Given the description of an element on the screen output the (x, y) to click on. 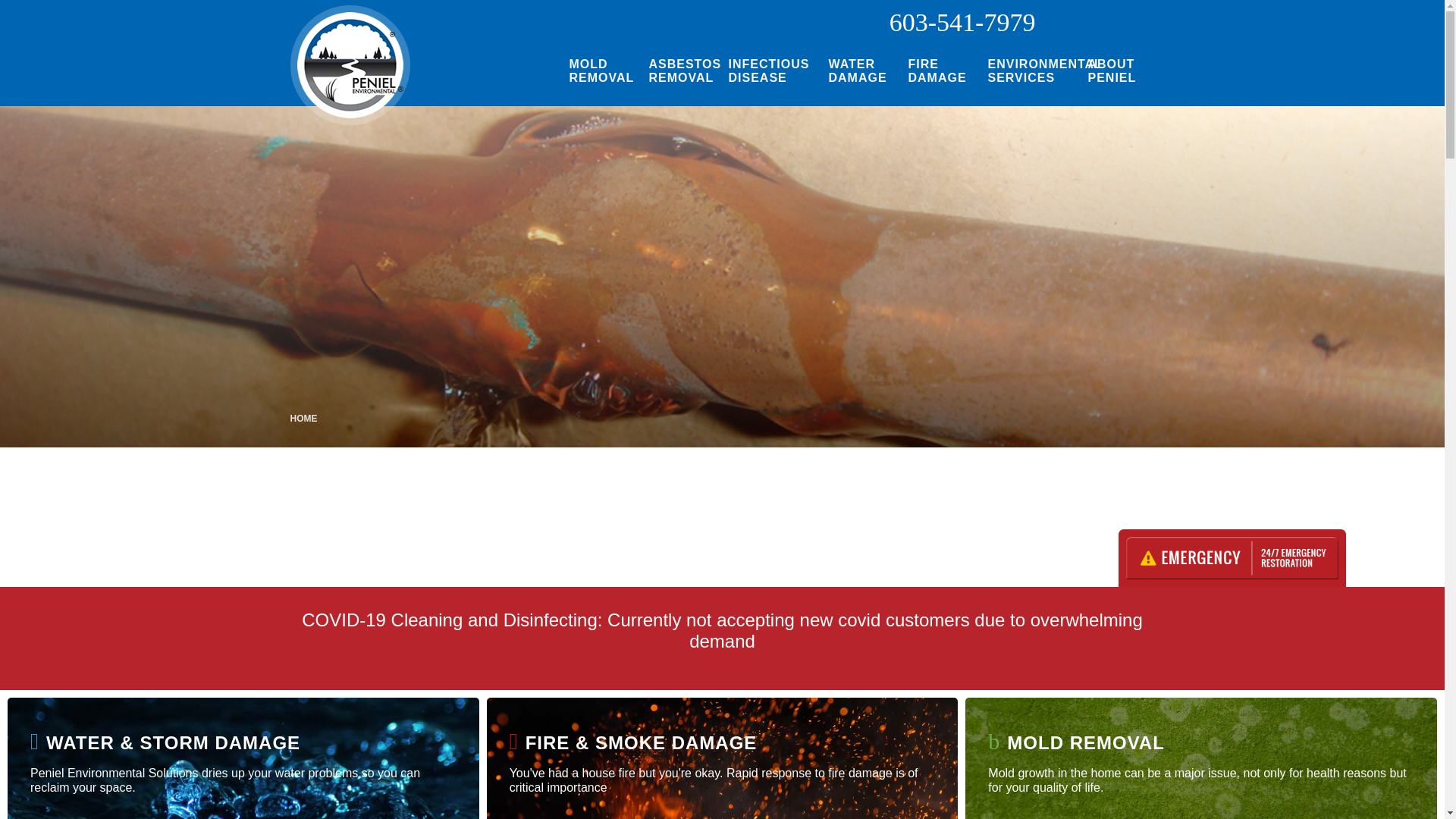
MOLD REMOVAL (596, 71)
INFECTIOUS DISEASE (767, 71)
ASBESTOS REMOVAL (676, 71)
WATER DAMAGE (856, 71)
